Given the description of an element on the screen output the (x, y) to click on. 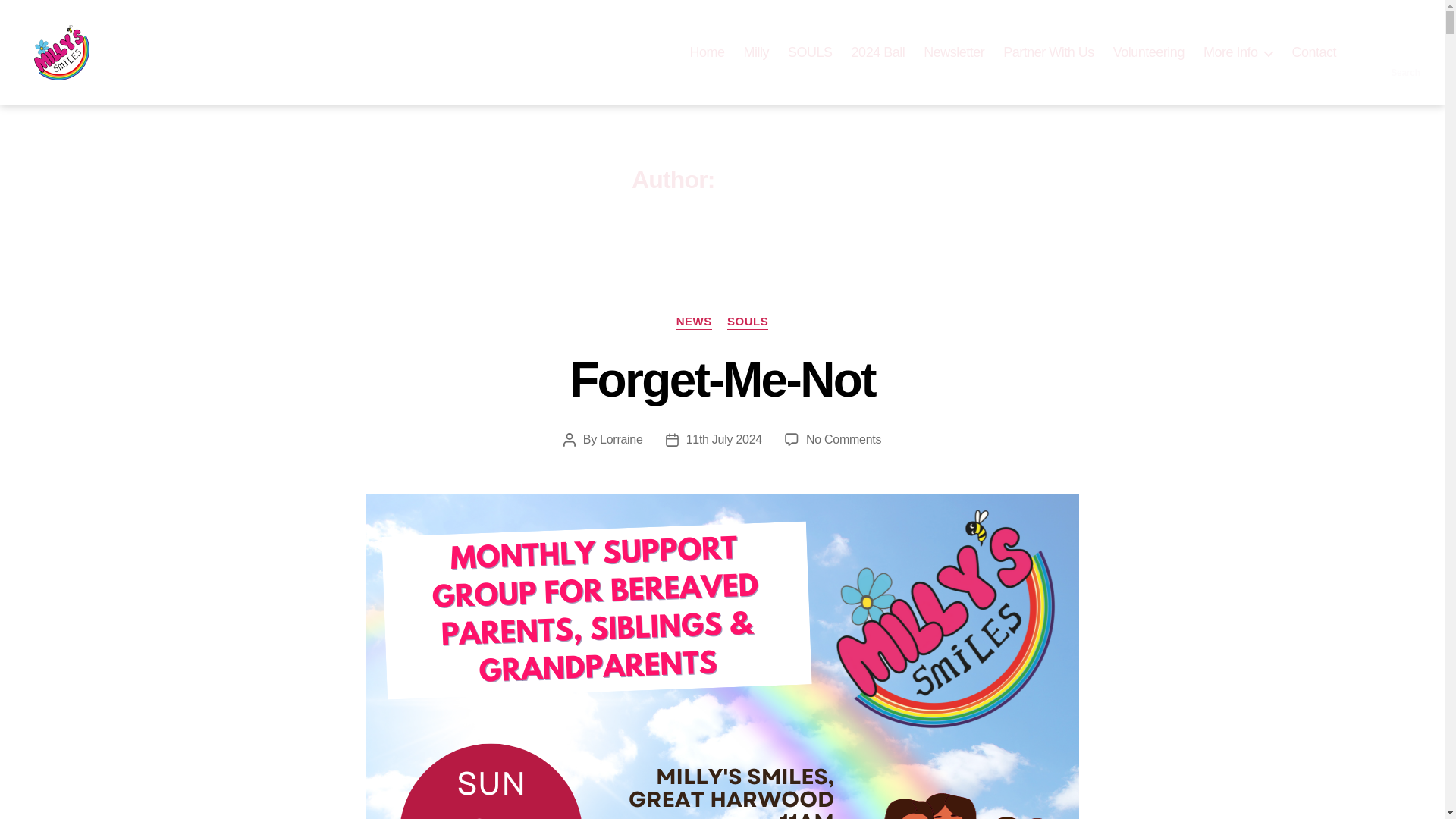
Home (707, 53)
More Info (1238, 53)
SOULS (809, 53)
Newsletter (953, 53)
Milly (757, 53)
Partner With Us (1048, 53)
Volunteering (1149, 53)
2024 Ball (878, 53)
Contact (1313, 53)
